Given the description of an element on the screen output the (x, y) to click on. 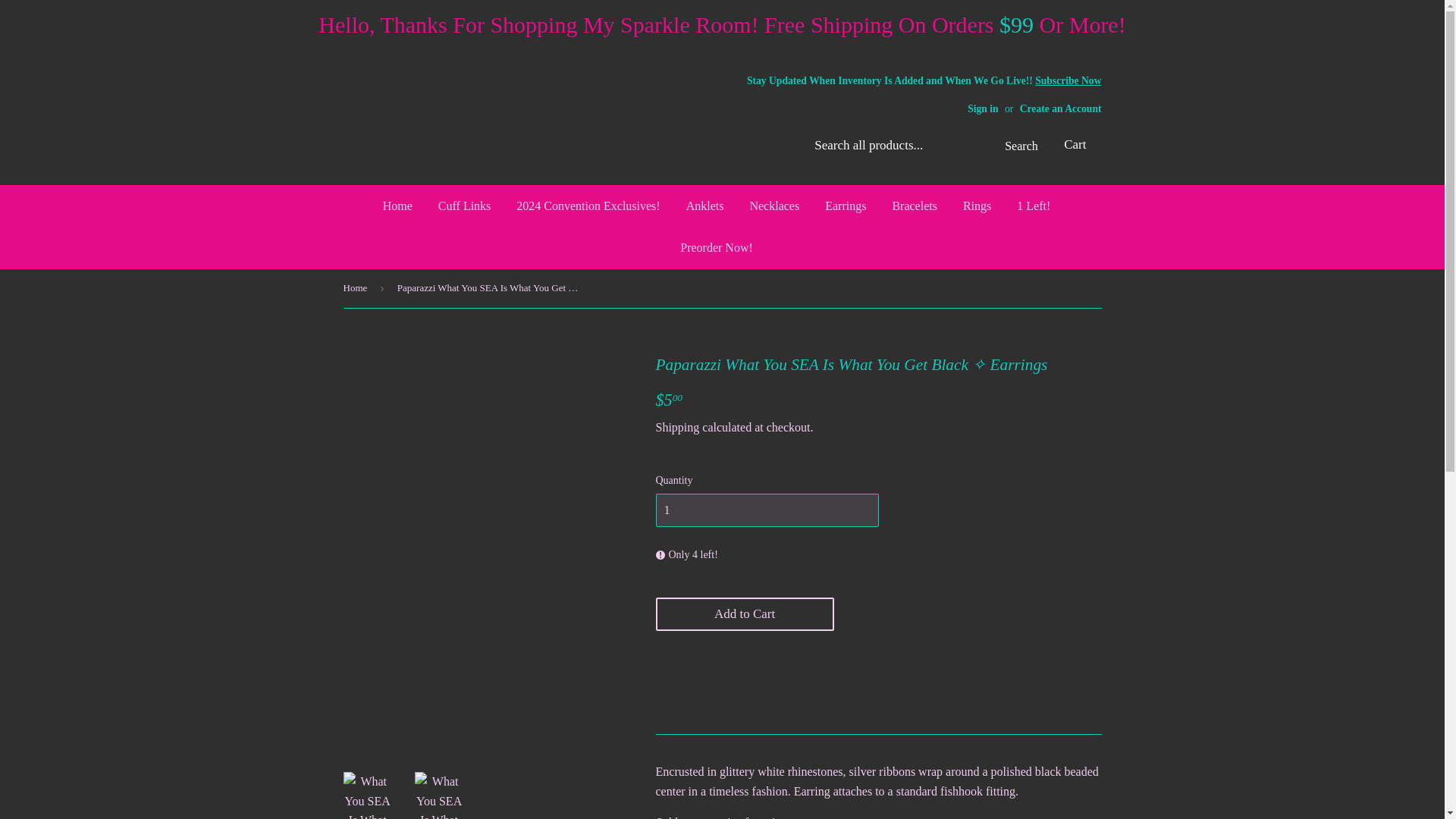
Cart (1074, 145)
1 (766, 510)
Search (1016, 146)
Create an Account (1061, 108)
Sign in (982, 108)
